Given the description of an element on the screen output the (x, y) to click on. 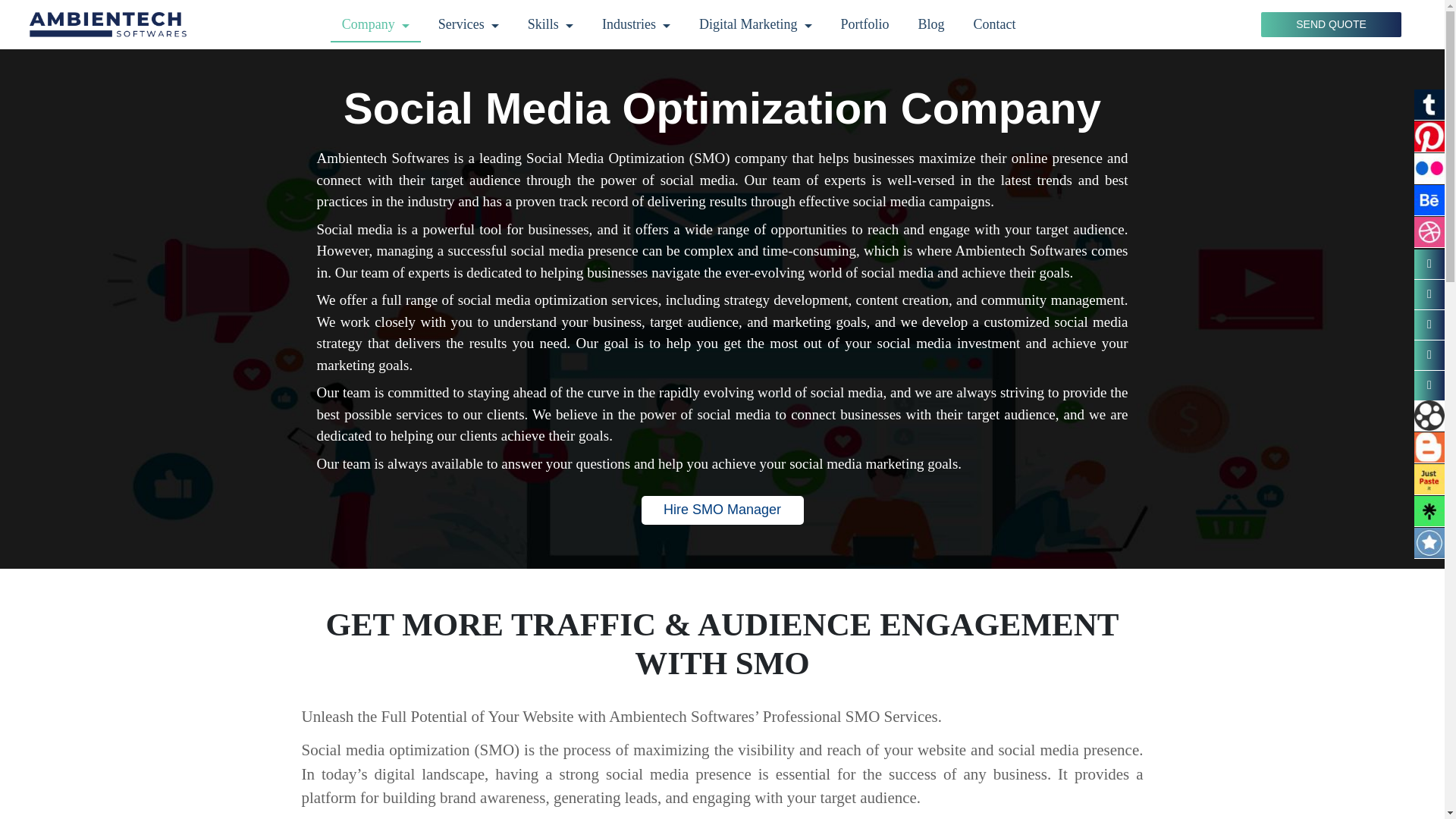
Tumbler Profile (1428, 105)
Skills (550, 24)
Services (468, 24)
